Given the description of an element on the screen output the (x, y) to click on. 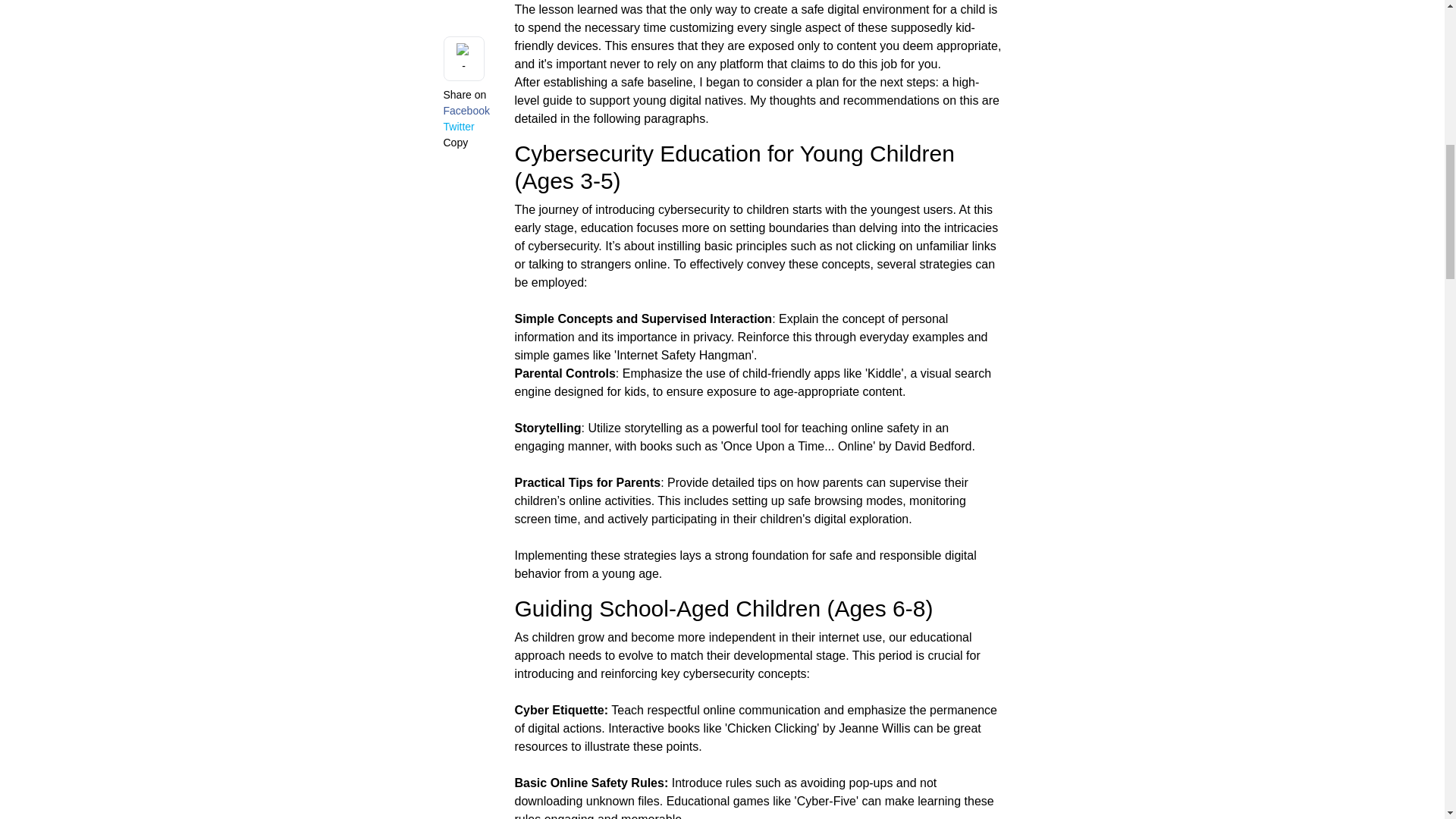
Once Upon a Time... Online (797, 445)
Kiddle (884, 373)
Chicken Clicking (771, 727)
Cyber-Five (826, 800)
Internet Safety Hangman (683, 354)
